Given the description of an element on the screen output the (x, y) to click on. 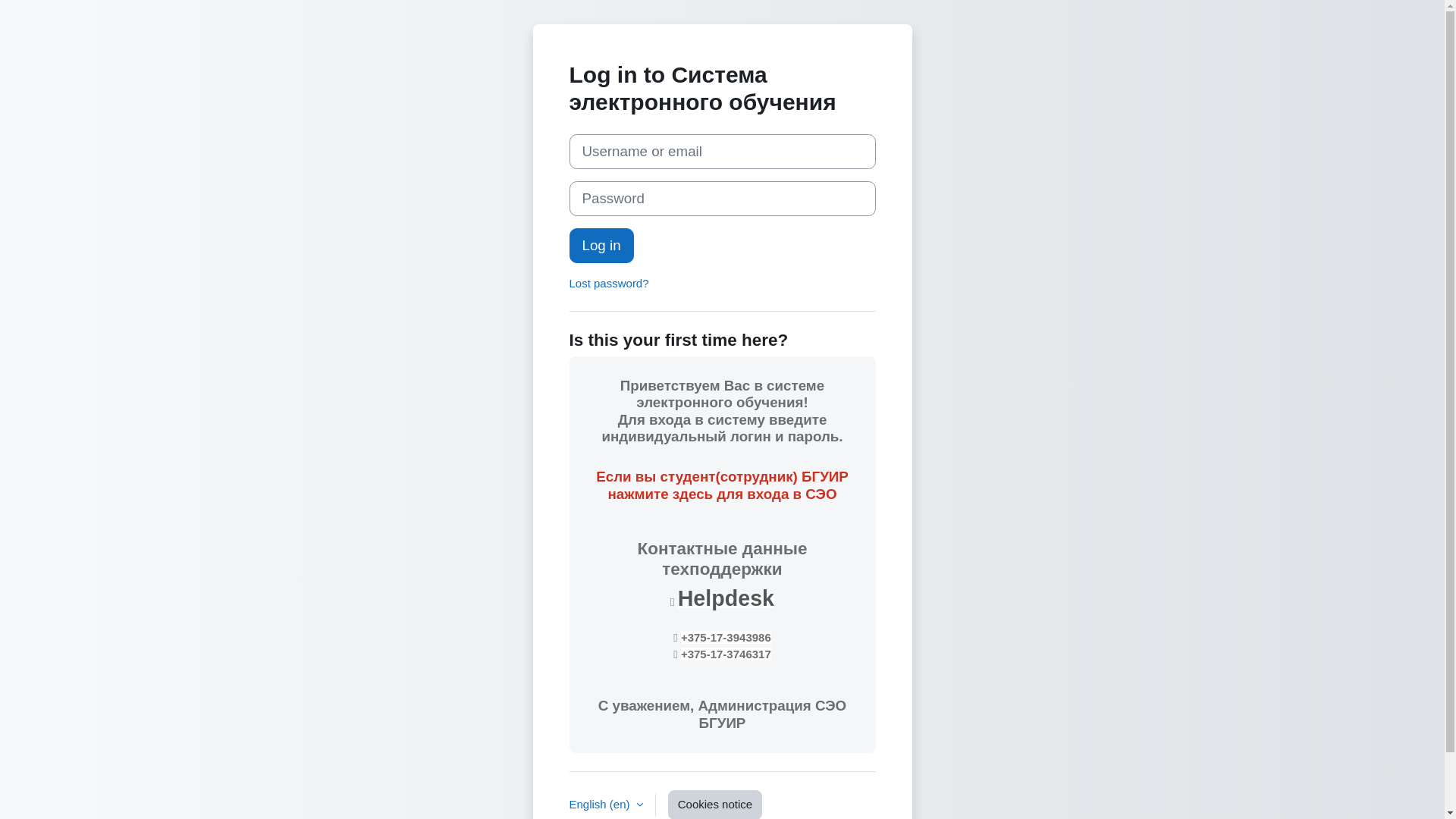
English (en) Element type: text (605, 804)
+375-17-3746317 Element type: text (725, 653)
+375-17-3943986 Element type: text (725, 636)
Log in Element type: text (600, 245)
Lost password? Element type: text (608, 282)
Helpdesk Element type: text (725, 598)
